Given the description of an element on the screen output the (x, y) to click on. 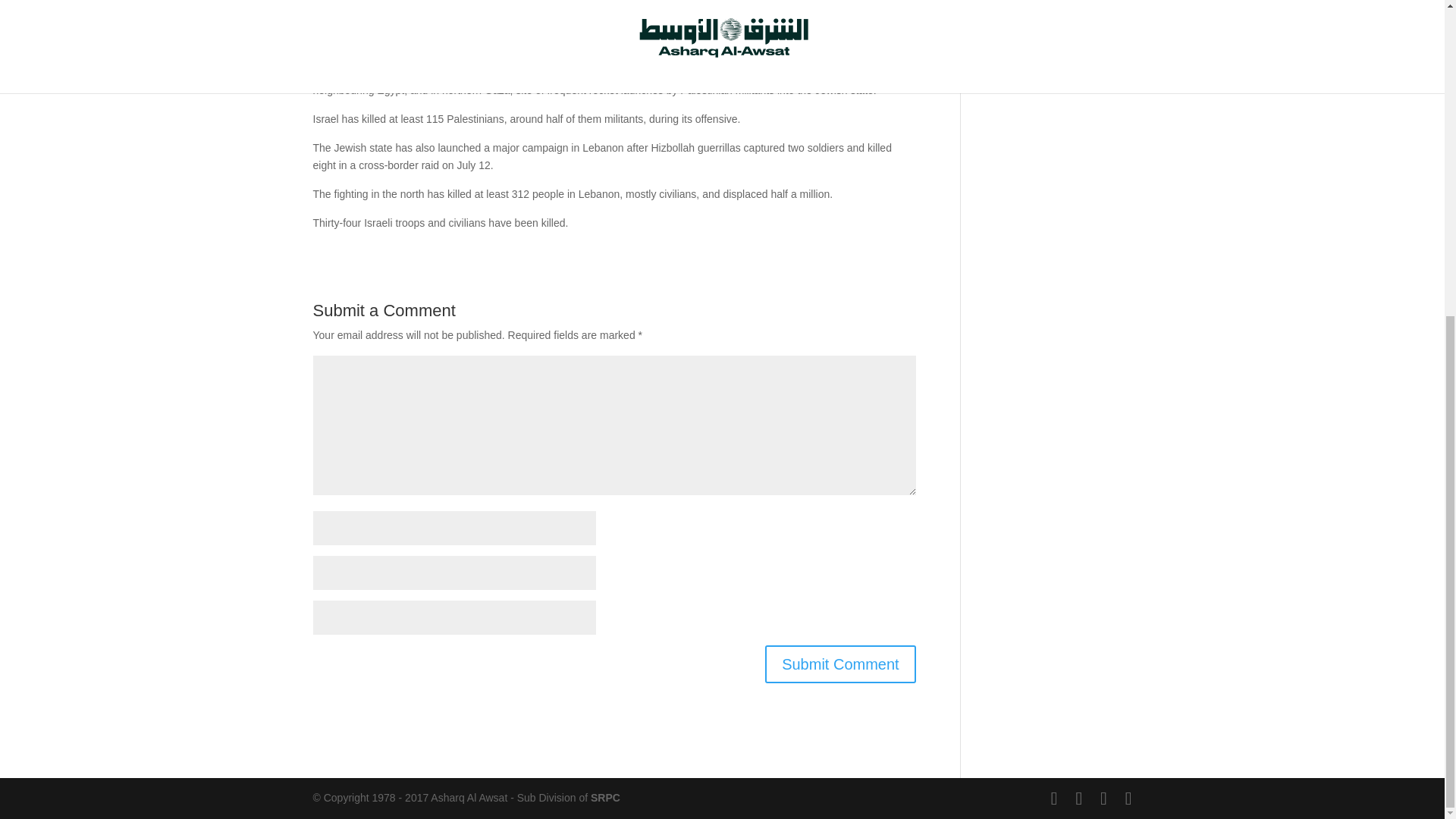
Submit Comment (840, 664)
SRPC (605, 797)
Submit Comment (840, 664)
